Given the description of an element on the screen output the (x, y) to click on. 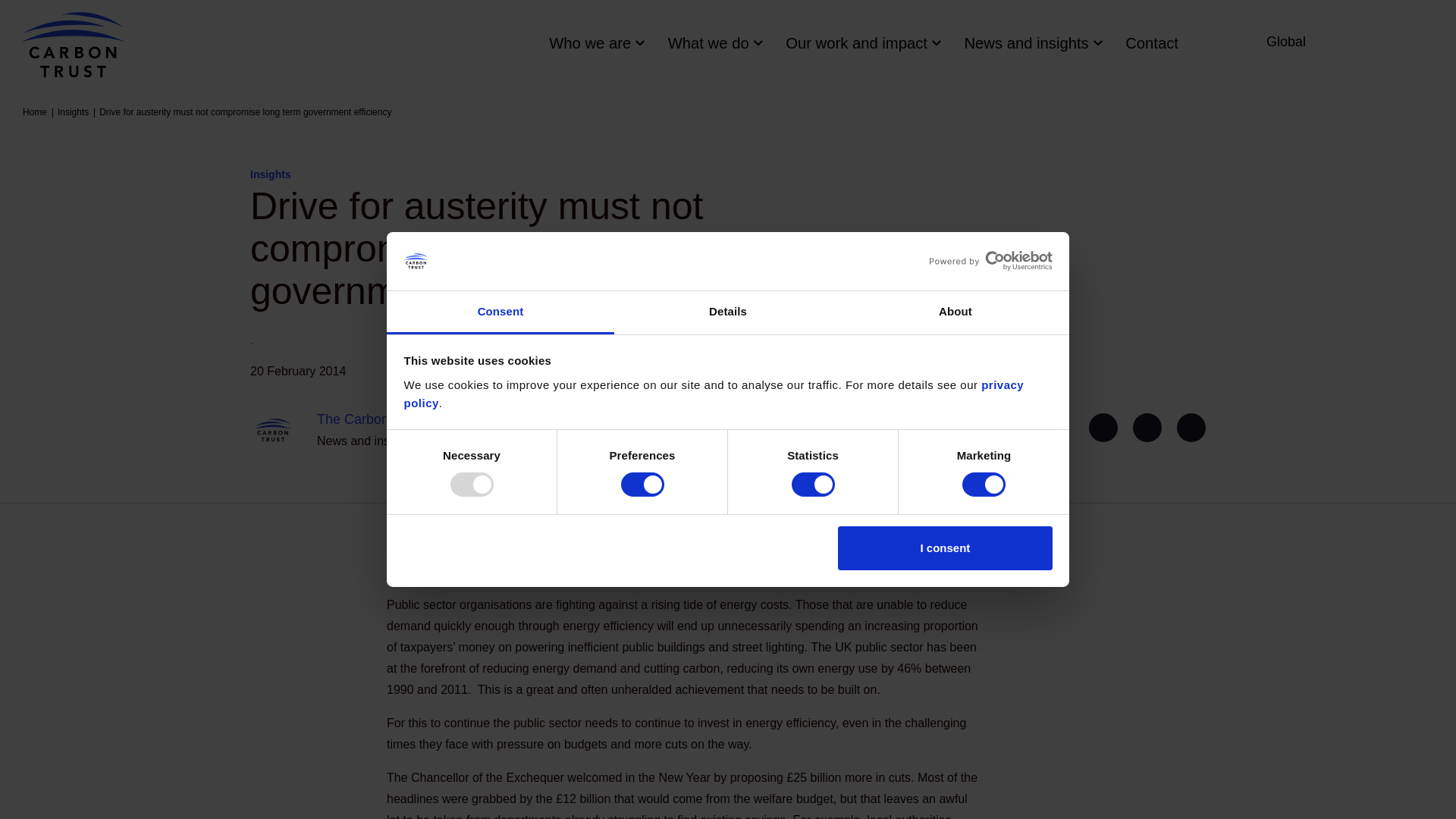
Consent (500, 312)
privacy policy (713, 393)
Details (727, 312)
About (954, 312)
